Given the description of an element on the screen output the (x, y) to click on. 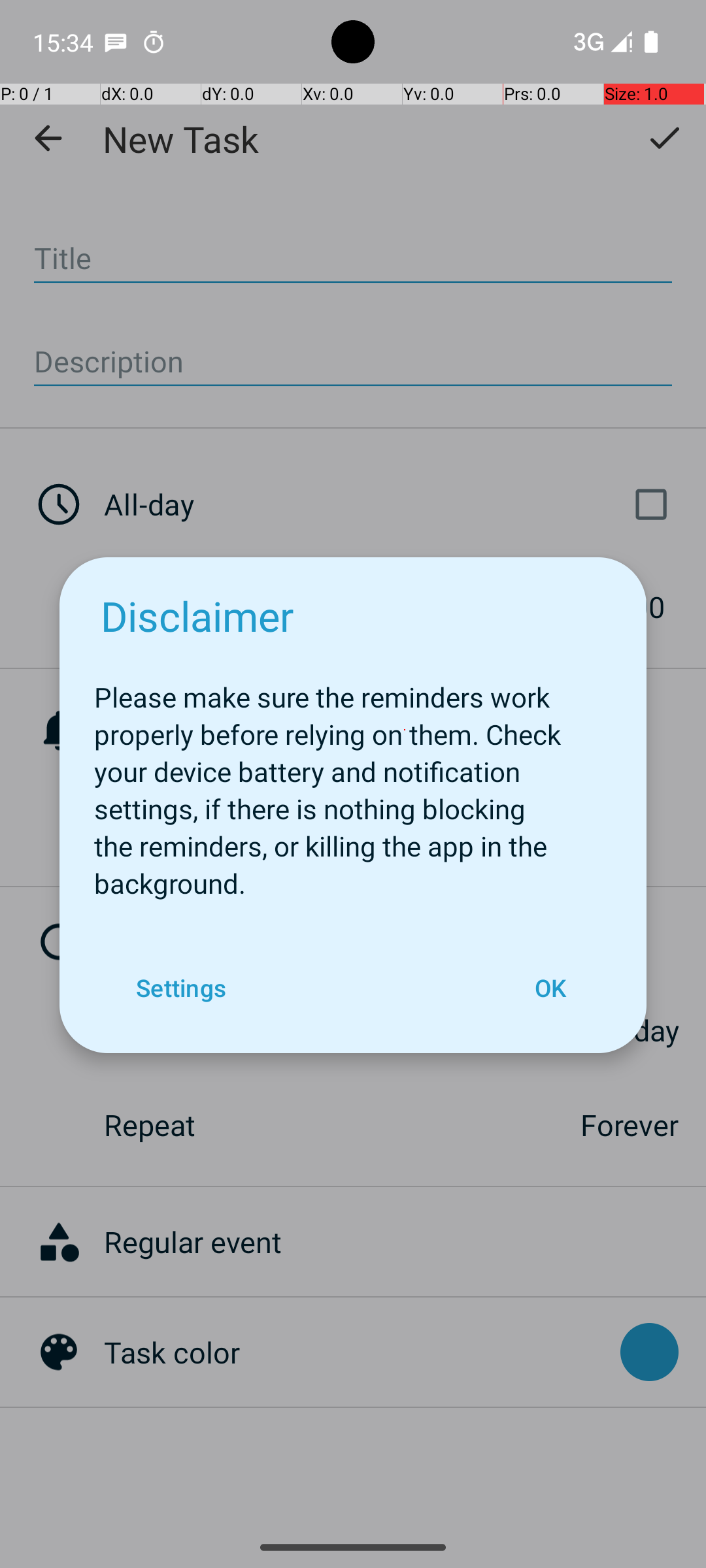
Disclaimer Element type: android.widget.TextView (196, 615)
Please make sure the reminders work properly before relying on them. Check your device battery and notification settings, if there is nothing blocking the reminders, or killing the app in the background. Element type: android.widget.TextView (352, 782)
